Given the description of an element on the screen output the (x, y) to click on. 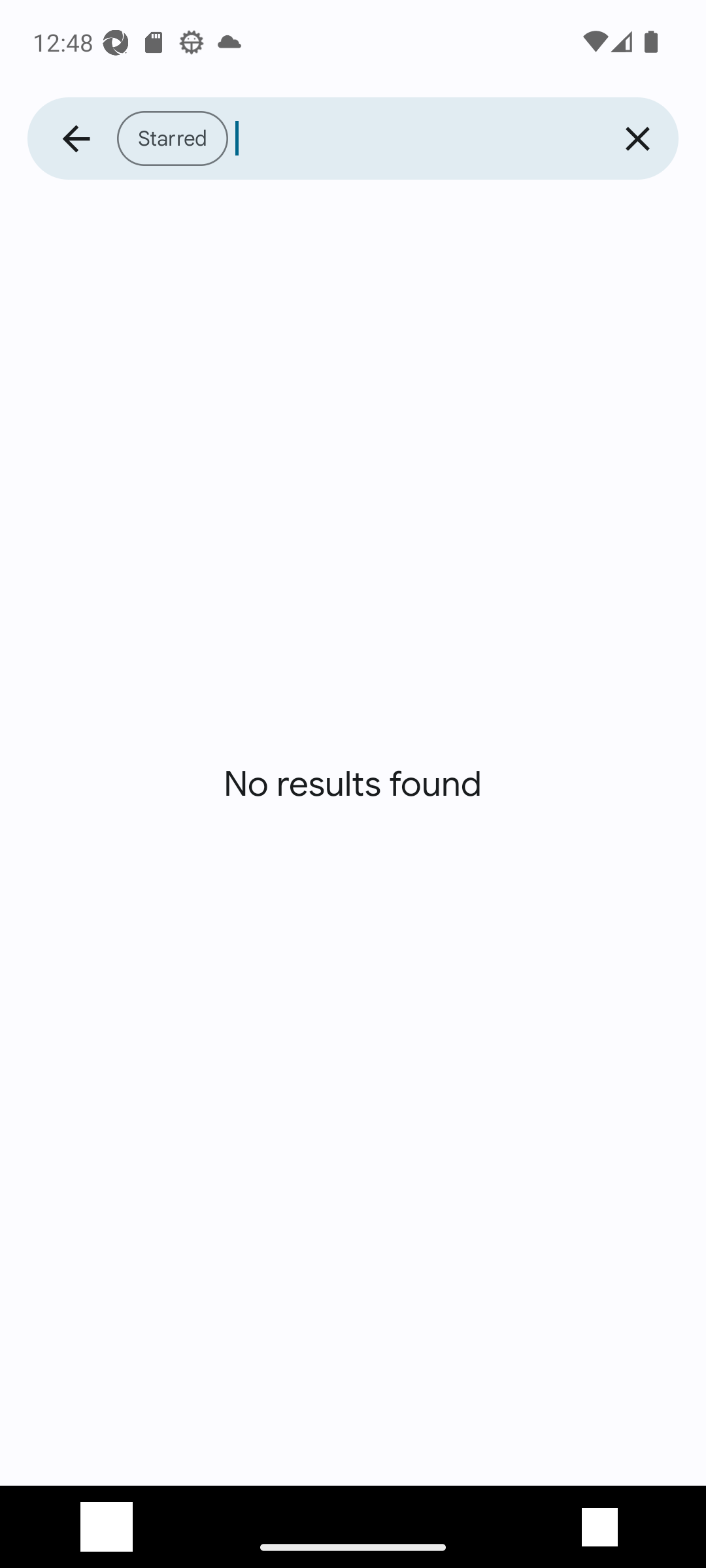
Go back (75, 138)
Starred  (356, 138)
Clear search (636, 138)
